Given the description of an element on the screen output the (x, y) to click on. 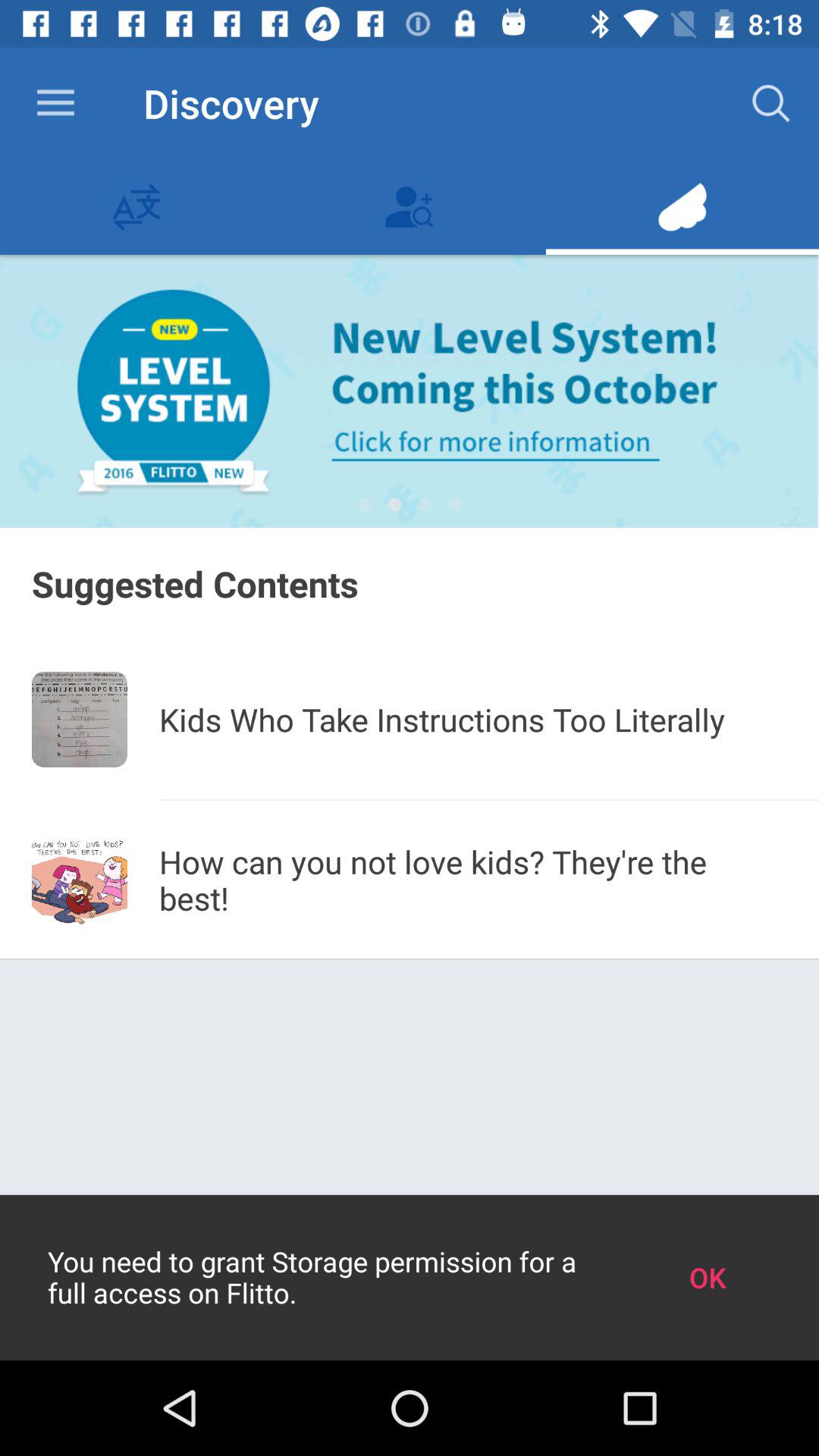
press icon below kids who take (489, 799)
